Given the description of an element on the screen output the (x, y) to click on. 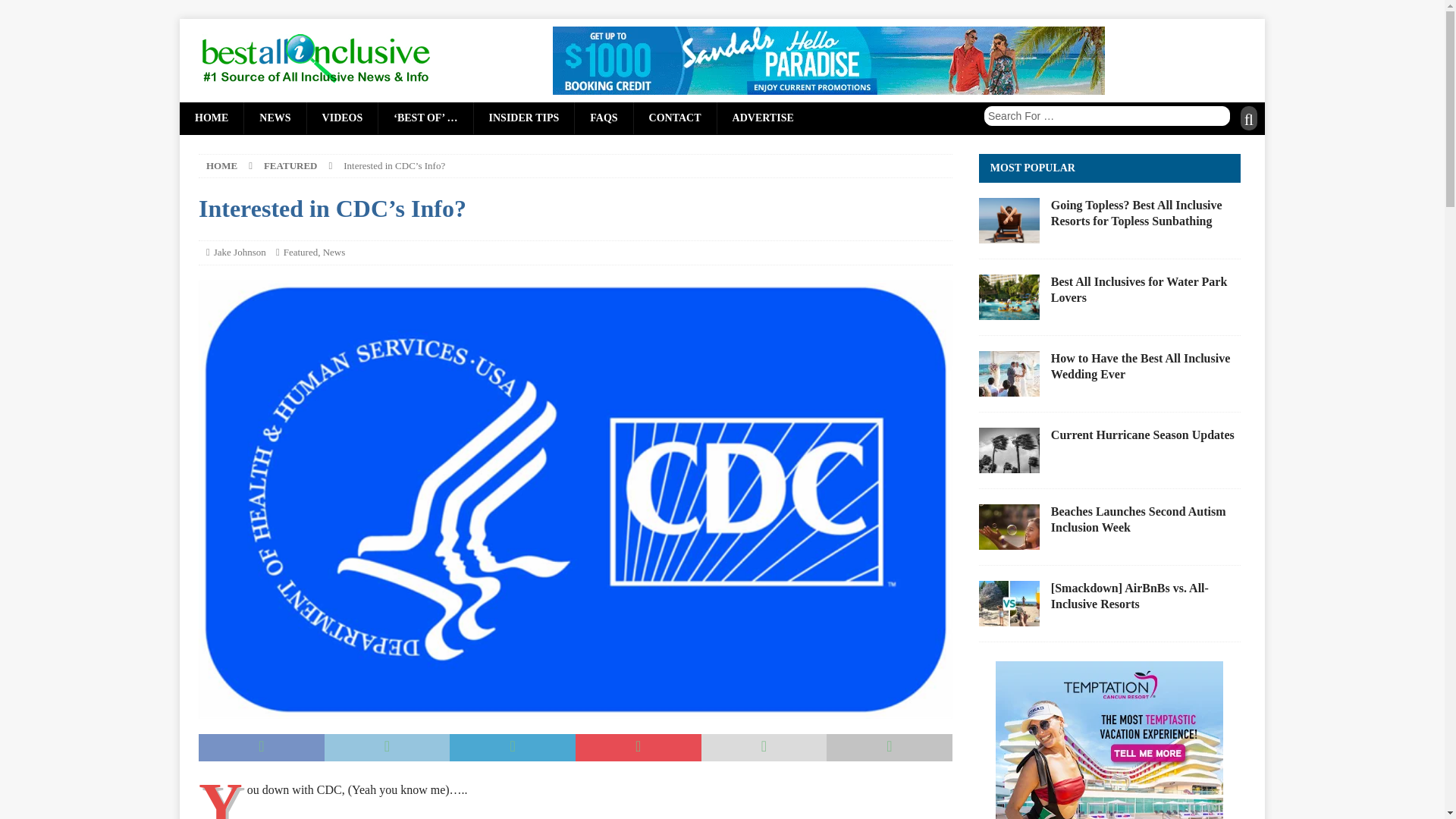
FEATURED (290, 165)
INSIDER TIPS (524, 118)
Search for: (1107, 116)
CONTACT (674, 118)
News (334, 251)
ADVERTISE (762, 118)
Featured (300, 251)
Jake Johnson (240, 251)
HOME (211, 118)
VIDEOS (341, 118)
NEWS (274, 118)
FAQS (602, 118)
HOME (221, 165)
